Given the description of an element on the screen output the (x, y) to click on. 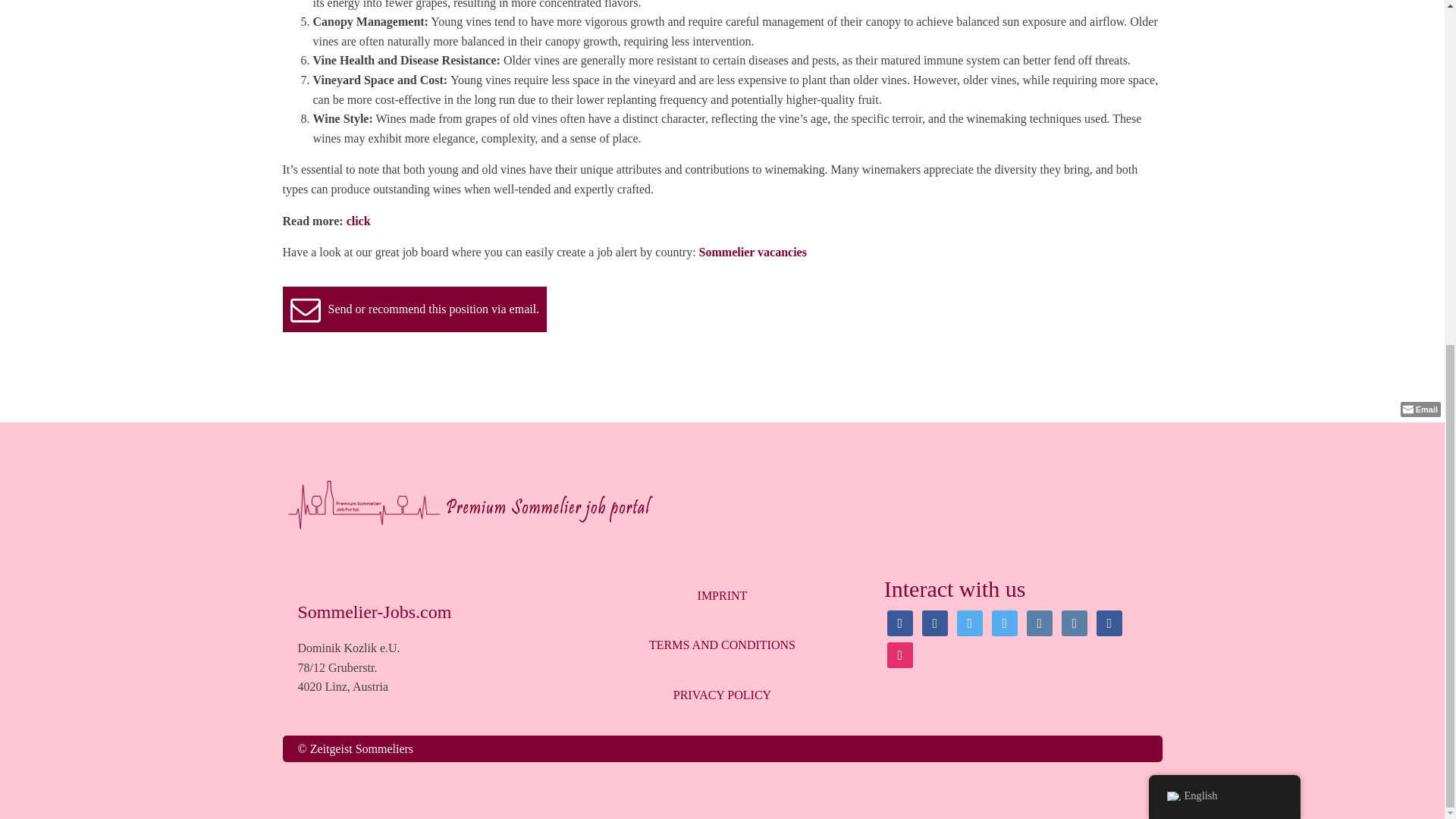
Facebook (899, 621)
TERMS AND CONDITIONS (721, 644)
LinkedIn Group (1004, 621)
odnoklassniki (1109, 621)
Send or recommend this position via email. (414, 309)
OK.RU (1109, 621)
Instagram (899, 653)
Sommelier vacancies (752, 251)
facebook (899, 621)
click (358, 220)
twitter (1004, 621)
IMPRINT (721, 595)
XING (1039, 621)
LinkedIn (969, 621)
twitter (969, 621)
